Given the description of an element on the screen output the (x, y) to click on. 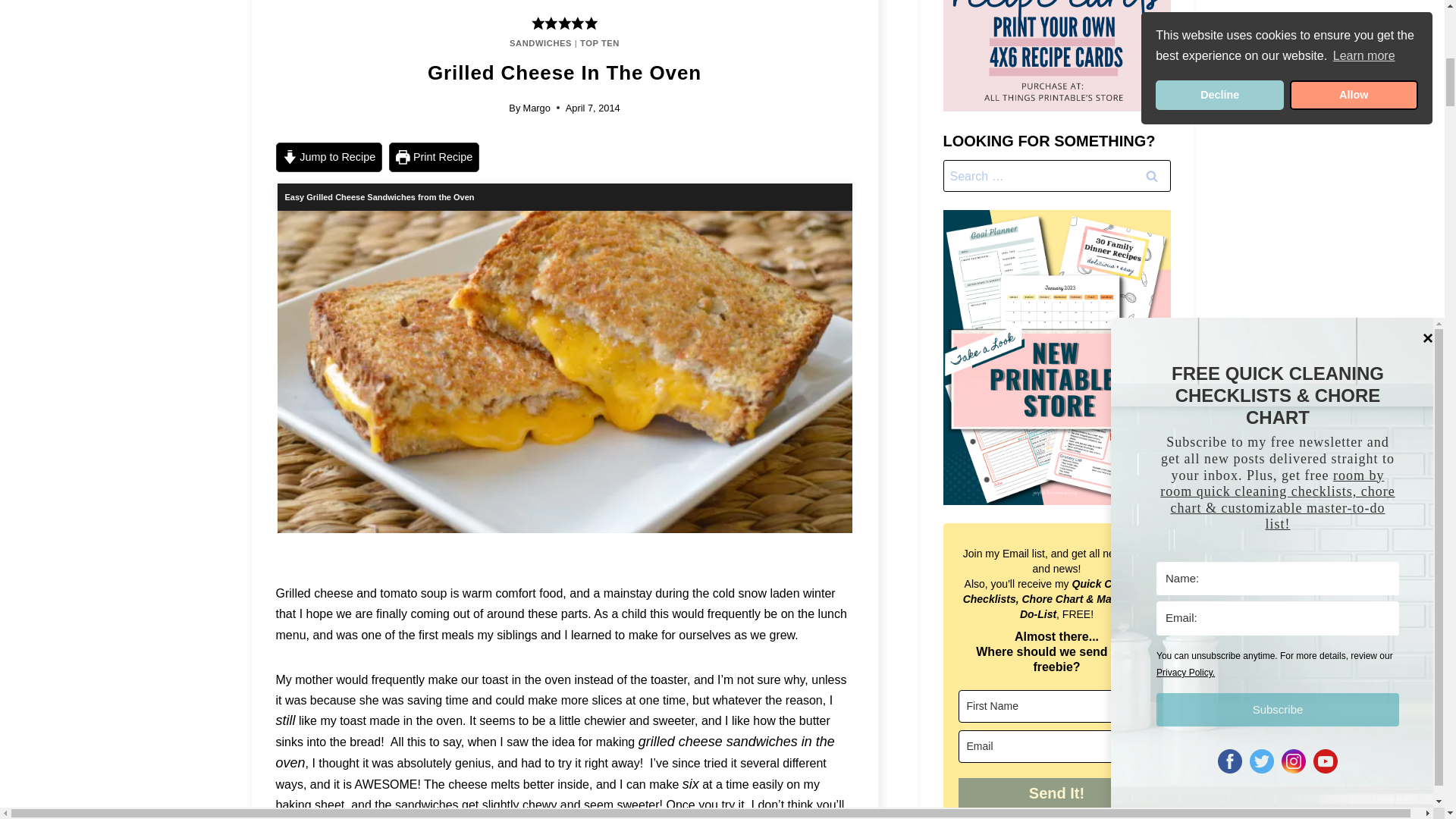
Search (1151, 175)
Search (1151, 175)
